Given the description of an element on the screen output the (x, y) to click on. 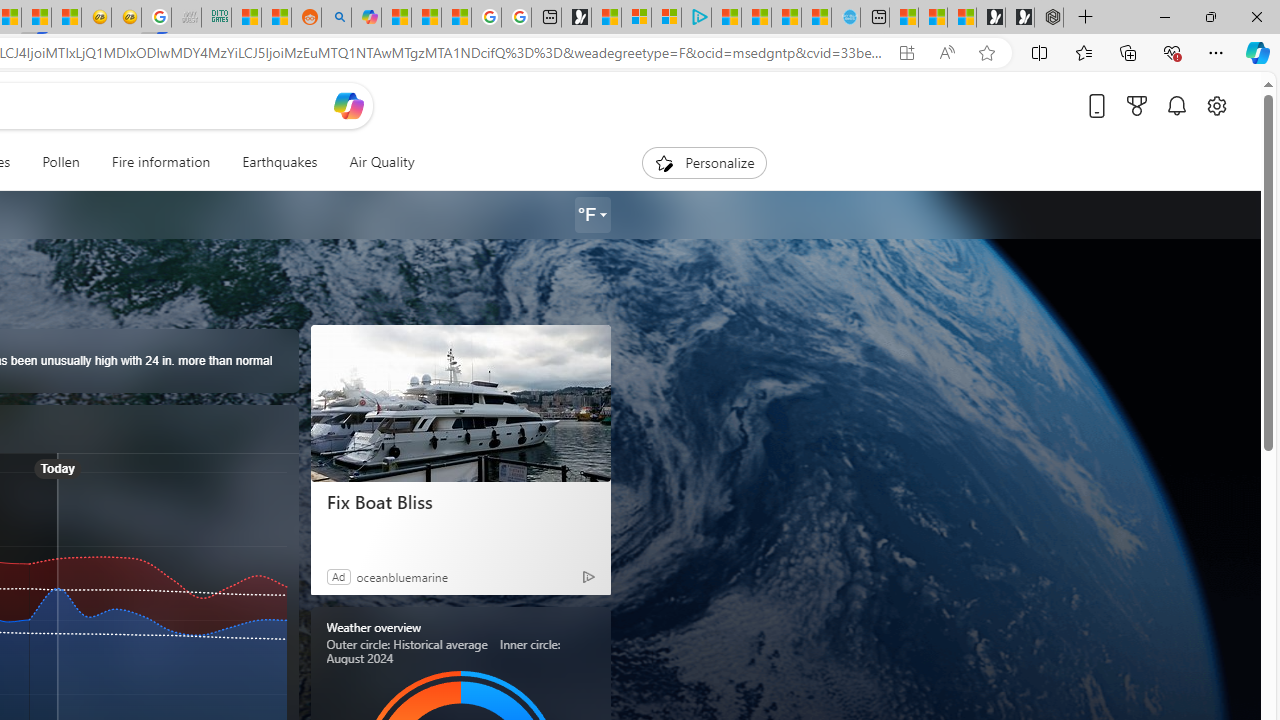
Air Quality (381, 162)
Weather settings (591, 215)
Microsoft Copilot in Bing (366, 17)
App available. Install Microsoft Start Weather (906, 53)
